Given the description of an element on the screen output the (x, y) to click on. 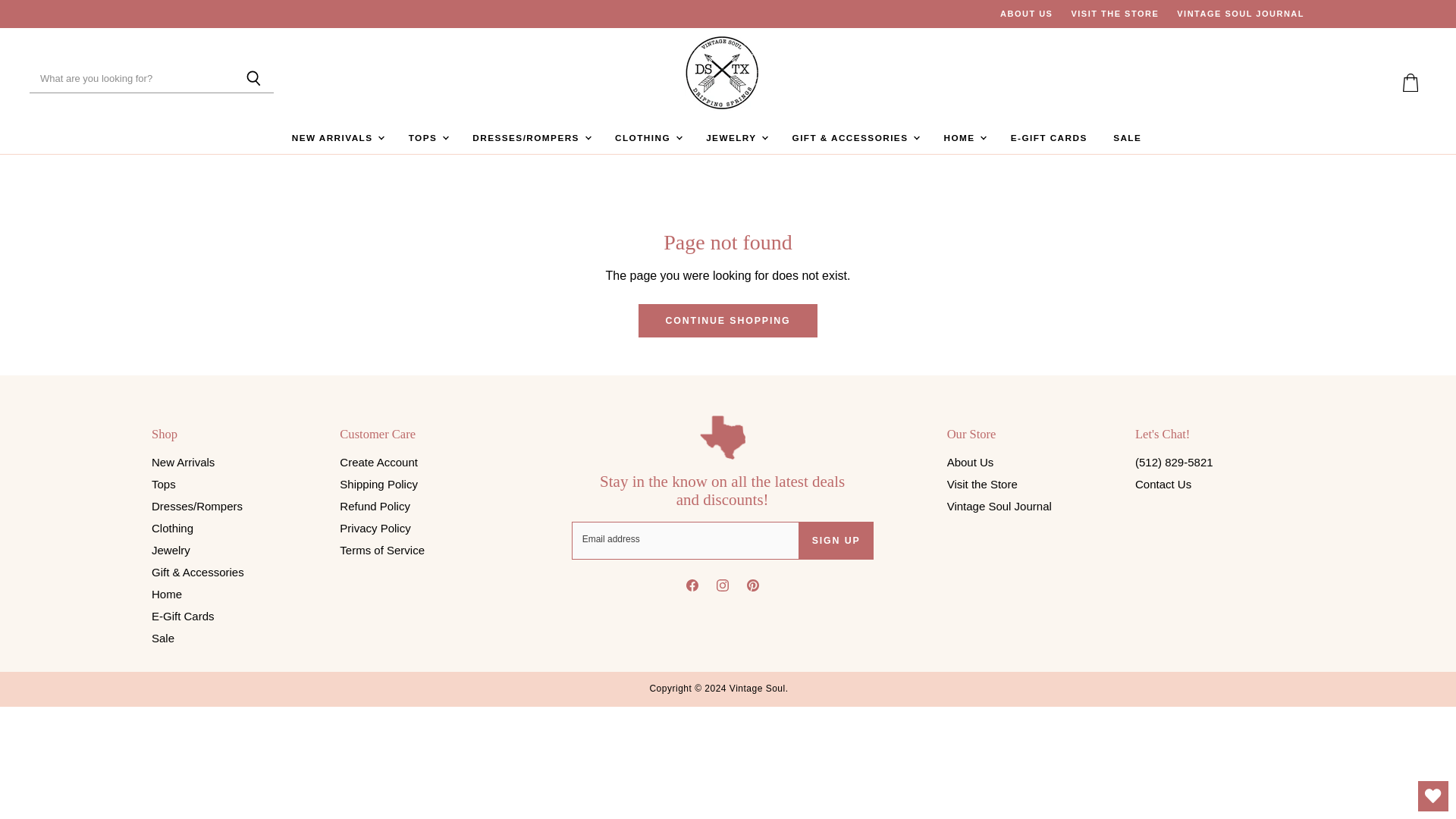
Pinterest (753, 587)
NEW ARRIVALS (337, 137)
Instagram (722, 587)
ABOUT US (1026, 13)
CLOTHING (647, 137)
Facebook (692, 587)
VISIT THE STORE (1114, 13)
VINTAGE SOUL JOURNAL (1240, 13)
TOPS (427, 137)
